Given the description of an element on the screen output the (x, y) to click on. 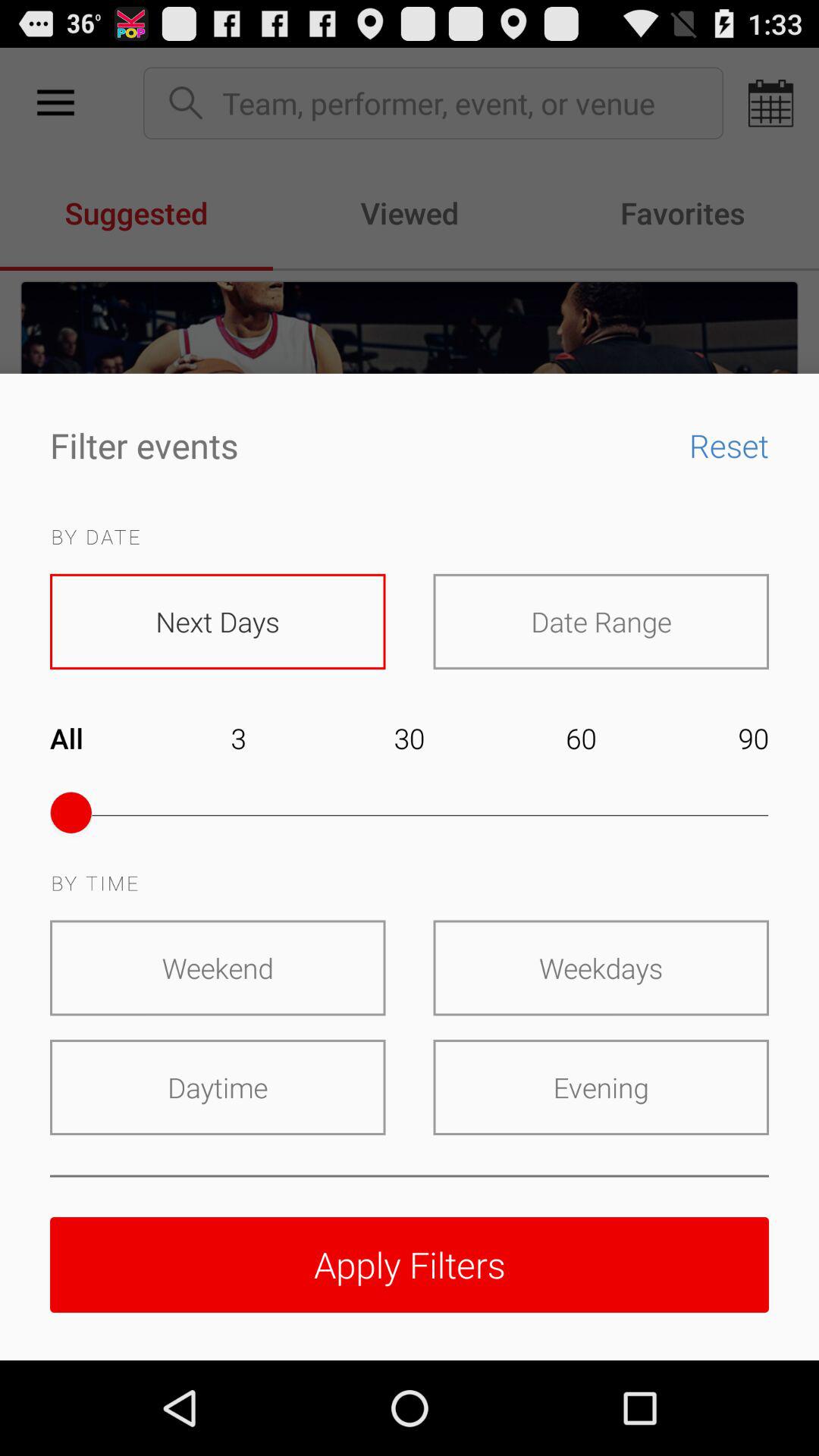
launch item next to next days icon (600, 621)
